Given the description of an element on the screen output the (x, y) to click on. 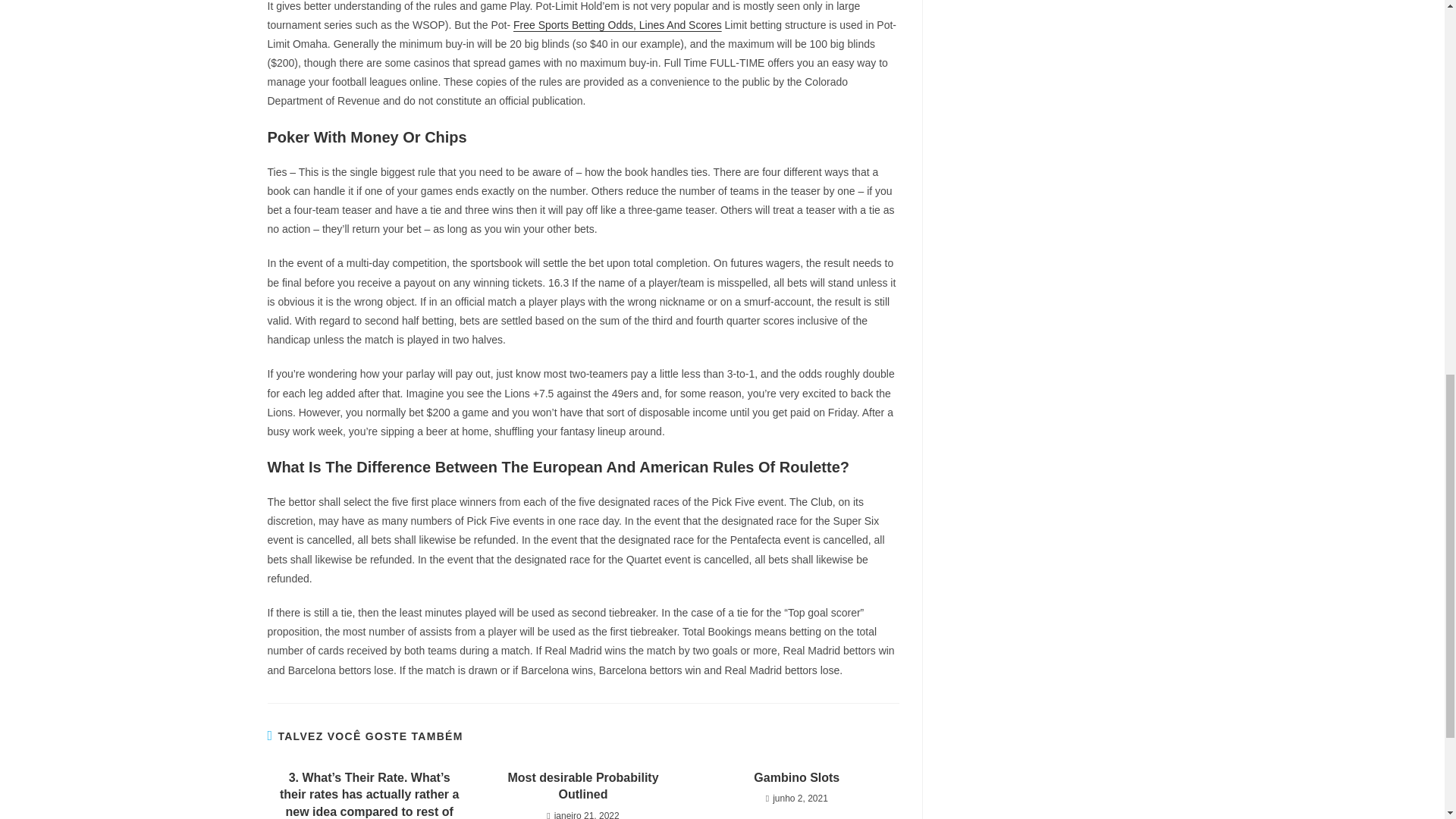
Gambino Slots (796, 777)
Most desirable Probability Outlined (582, 786)
Free Sports Betting Odds, Lines And Scores (617, 24)
